Given the description of an element on the screen output the (x, y) to click on. 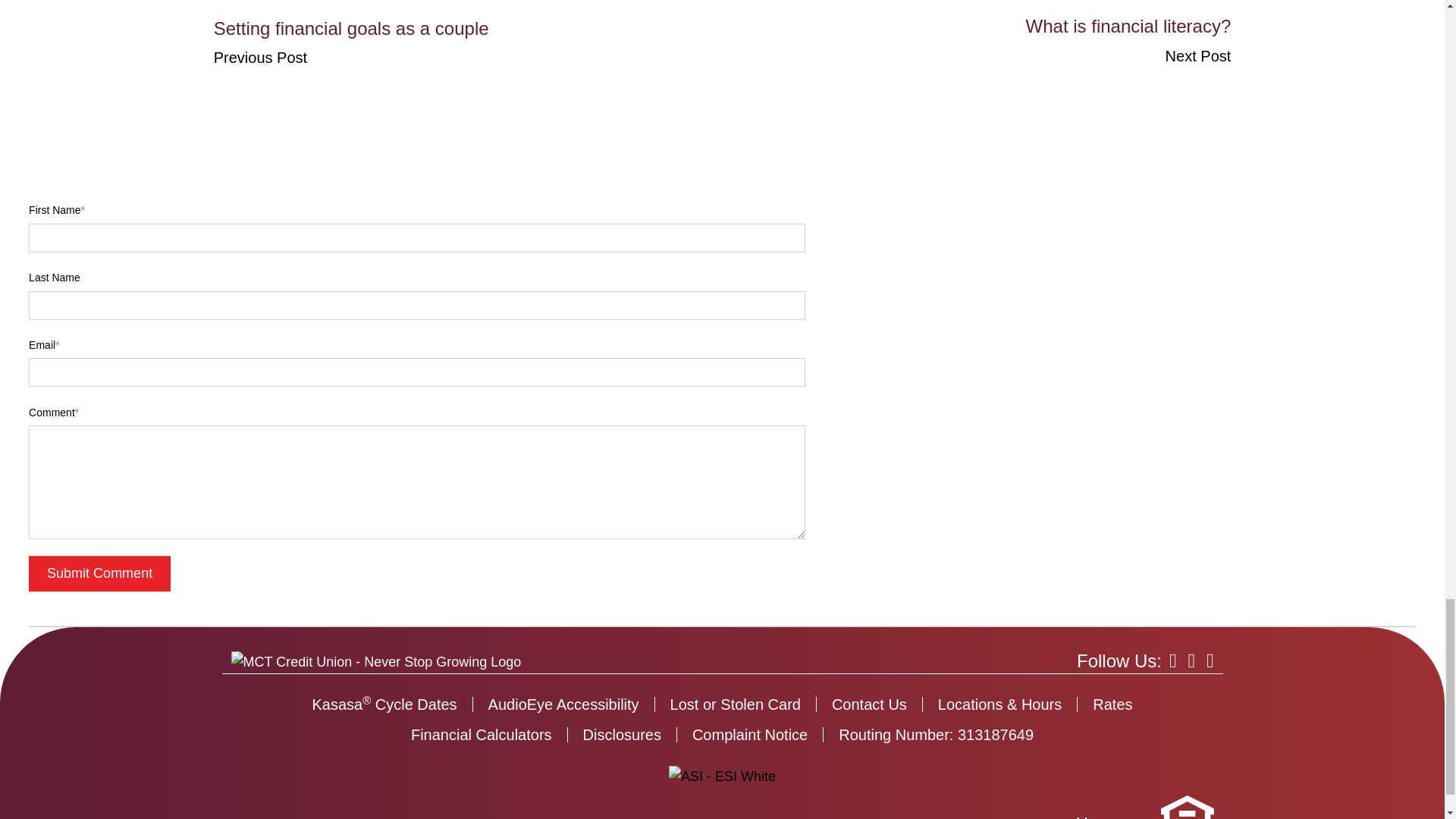
ASI - ESI White (722, 776)
Submit Comment (99, 573)
MCT Credit Union - Never Stop Growing Logo (375, 662)
